Given the description of an element on the screen output the (x, y) to click on. 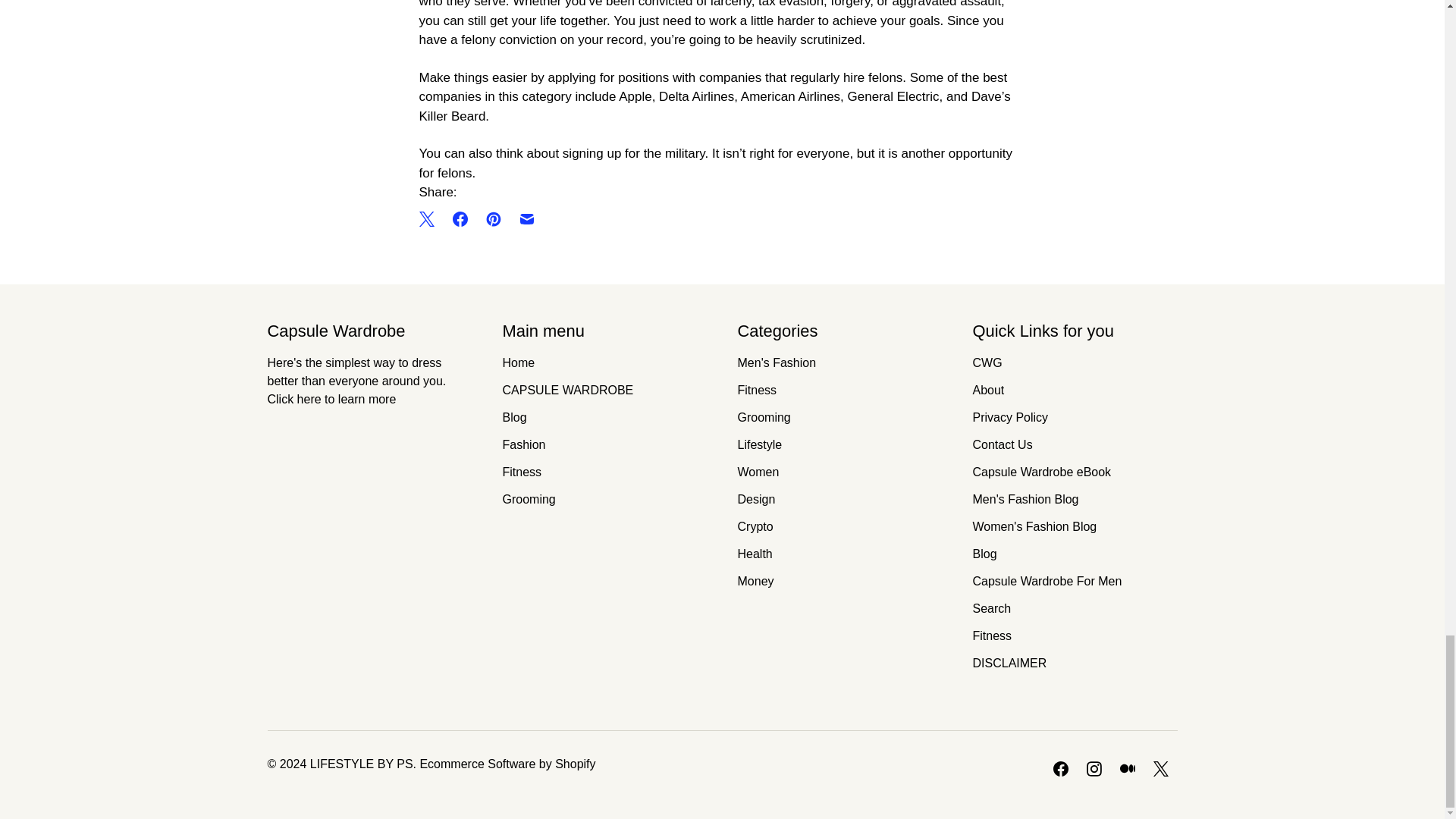
Click here to learn more (331, 399)
CAPSULE WARDROBE (567, 390)
Fitness (521, 472)
Email this to a friend (526, 218)
Share this on Facebook (459, 218)
Blog (513, 417)
Share this on Pinterest (492, 218)
Home (518, 362)
Fashion (523, 444)
